Given the description of an element on the screen output the (x, y) to click on. 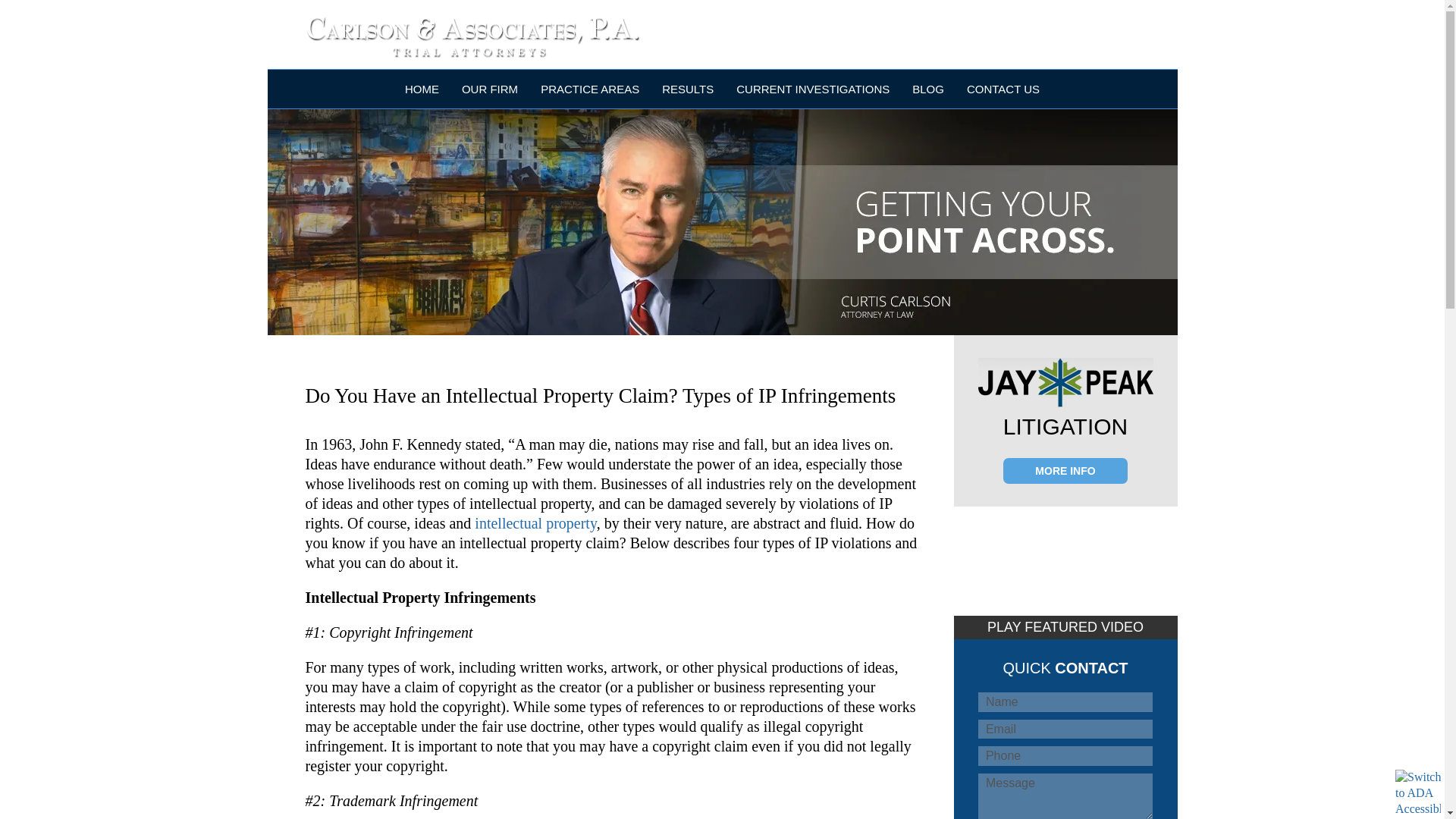
PRACTICE AREAS (589, 88)
HOME (421, 88)
OUR FIRM (489, 88)
305.372.9700 (960, 29)
Jay Peak (1065, 382)
Email (1065, 729)
BLOG (928, 88)
Name (1065, 701)
CURRENT INVESTIGATIONS (812, 88)
RESULTS (686, 88)
